Given the description of an element on the screen output the (x, y) to click on. 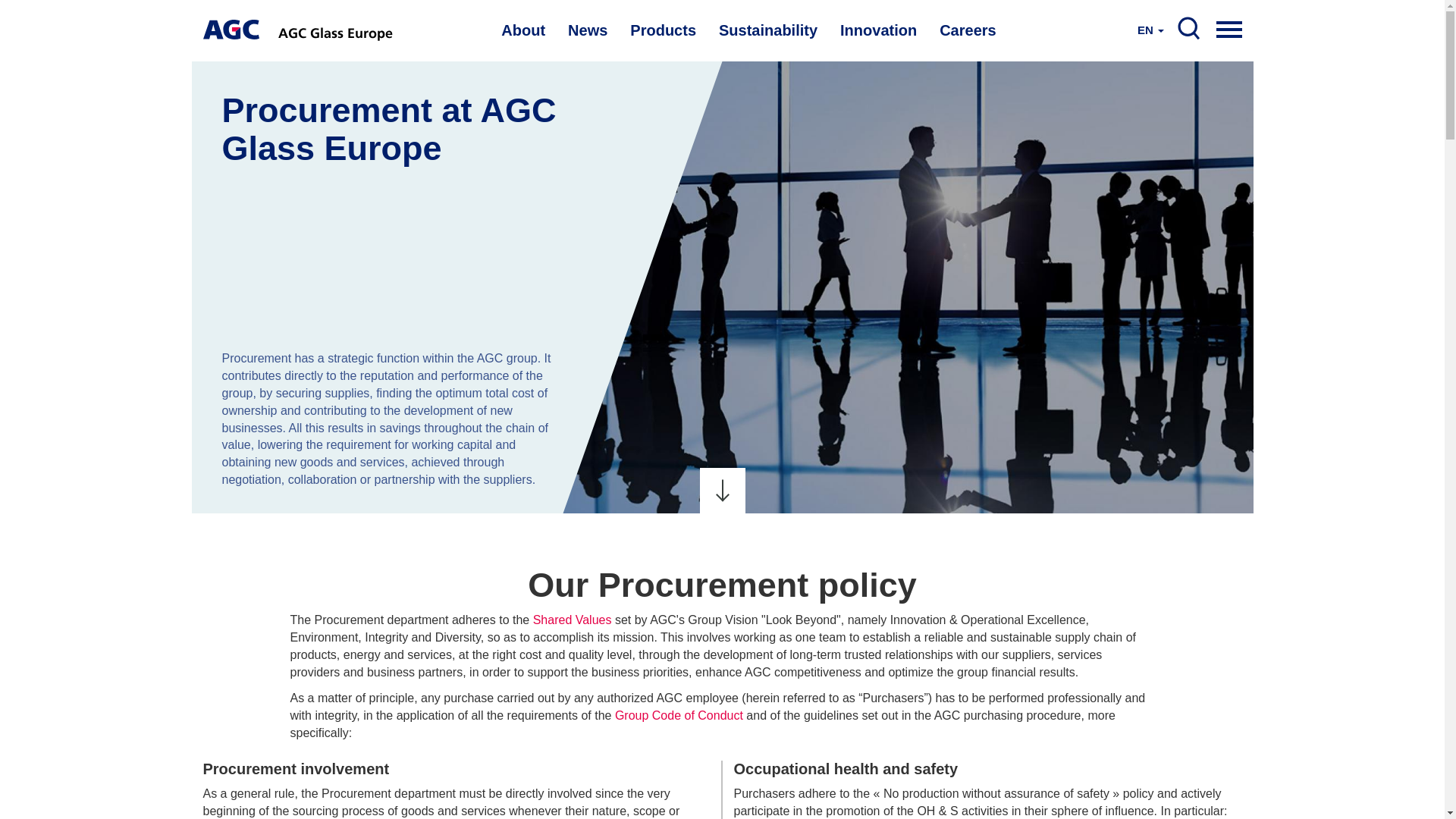
Home (337, 29)
About (522, 30)
Sustainability (767, 30)
News (587, 30)
Home (231, 29)
Products (662, 30)
AGC Glass Europe (337, 29)
